Given the description of an element on the screen output the (x, y) to click on. 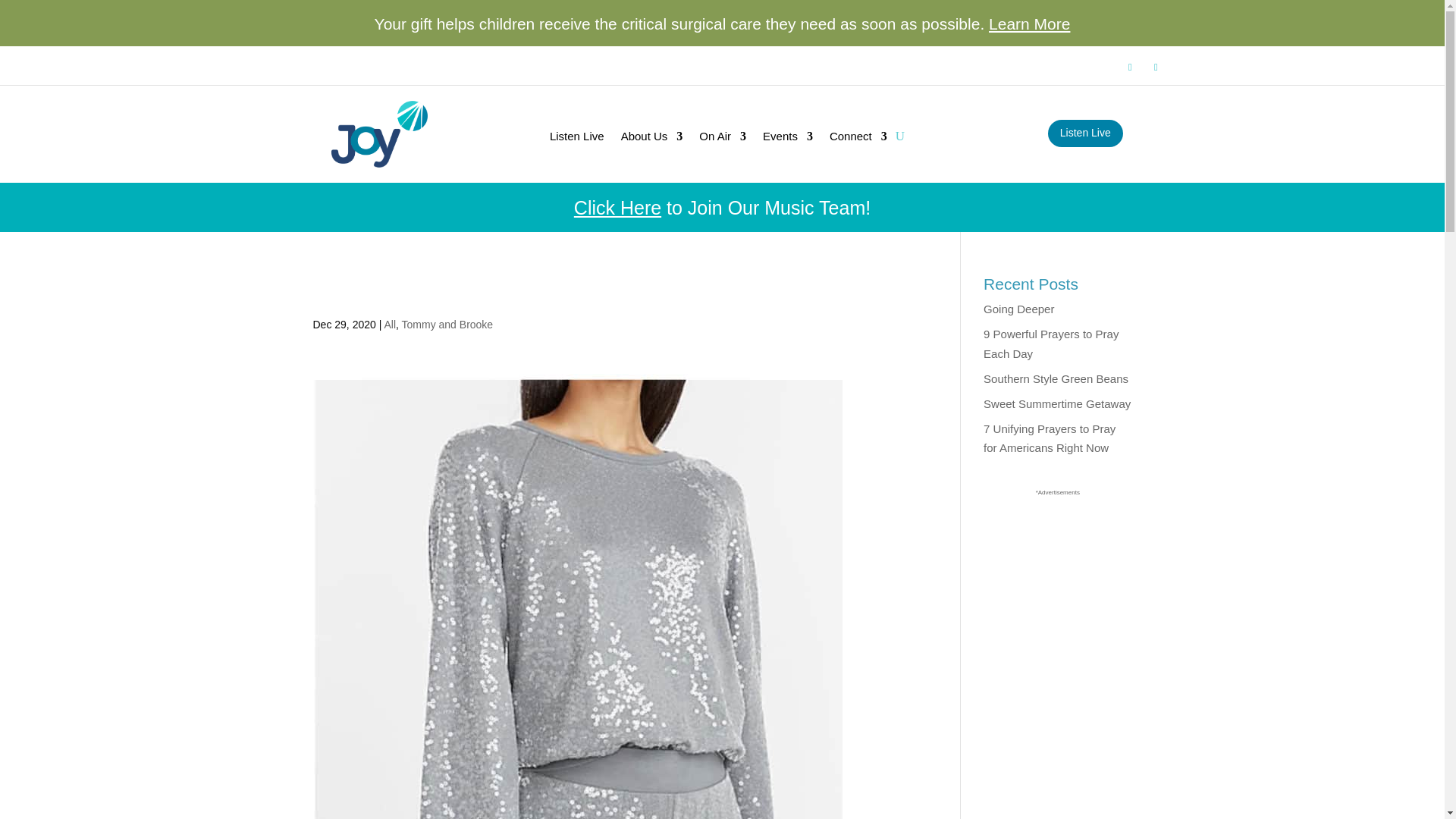
Listen Live (577, 139)
On Air (721, 139)
About Us (651, 139)
Follow on Instagram (1155, 66)
Events (787, 139)
joy (379, 133)
Connect (857, 139)
Learn More (1029, 23)
Follow on Facebook (1129, 66)
